Given the description of an element on the screen output the (x, y) to click on. 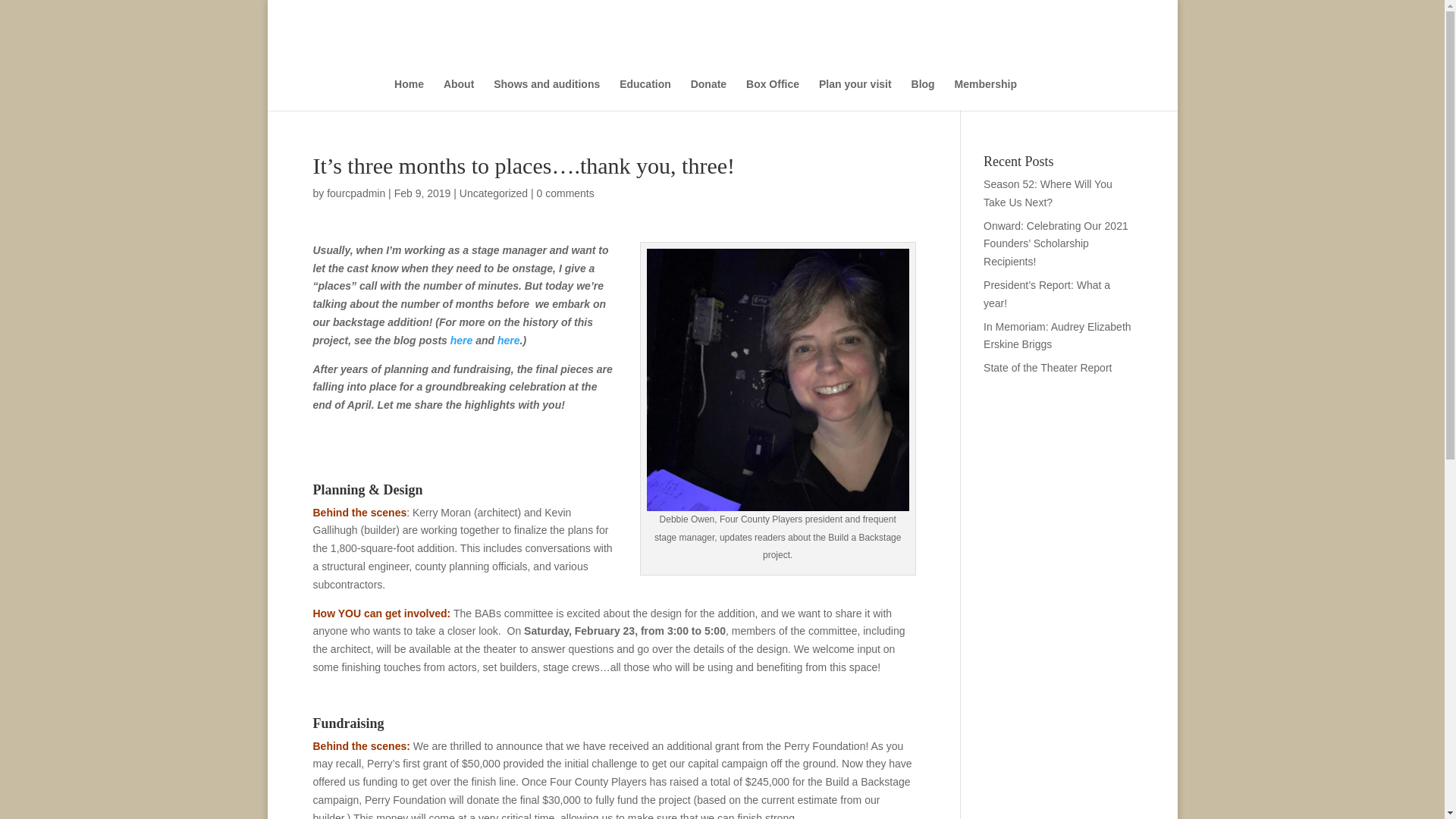
Plan your visit (854, 94)
fourcpadmin (355, 193)
Shows and auditions (546, 94)
here (461, 340)
Blog (922, 94)
Education (645, 94)
Posts by fourcpadmin (355, 193)
here (508, 340)
0 comments (565, 193)
Season 52: Where Will You Take Us Next? (1048, 193)
State of the Theater Report (1048, 367)
Home (408, 94)
Membership (985, 94)
Uncategorized (493, 193)
In Memoriam: Audrey Elizabeth Erskine Briggs (1057, 336)
